Given the description of an element on the screen output the (x, y) to click on. 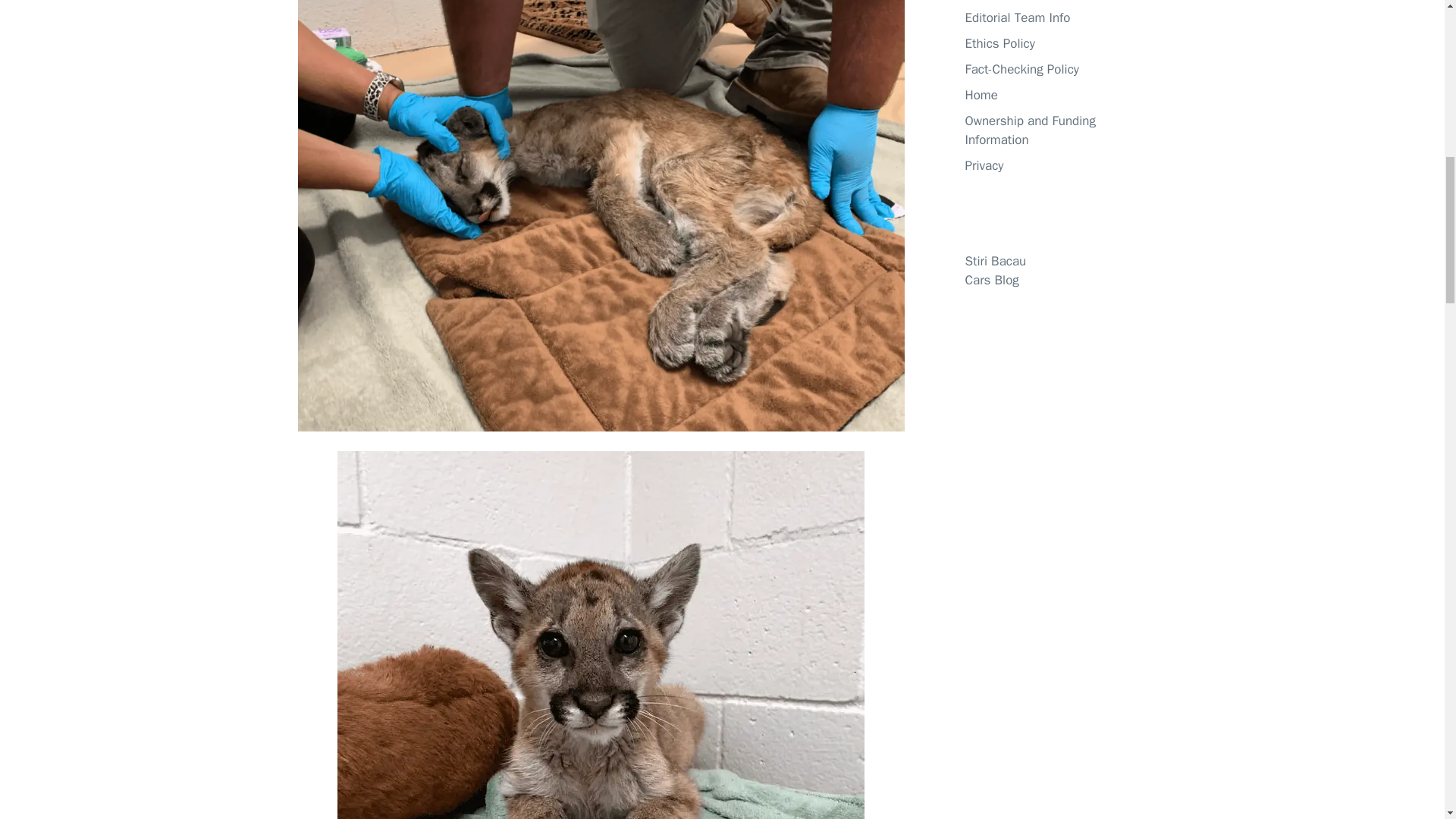
Privacy (983, 165)
Cars Blog (990, 279)
Stiri Bacau (994, 261)
Scroll back to top (1406, 720)
Editorial Team Info (1016, 17)
Ownership and Funding Information (1028, 130)
Home (980, 94)
Fact-Checking Policy (1020, 68)
Ethics Policy (998, 42)
